Given the description of an element on the screen output the (x, y) to click on. 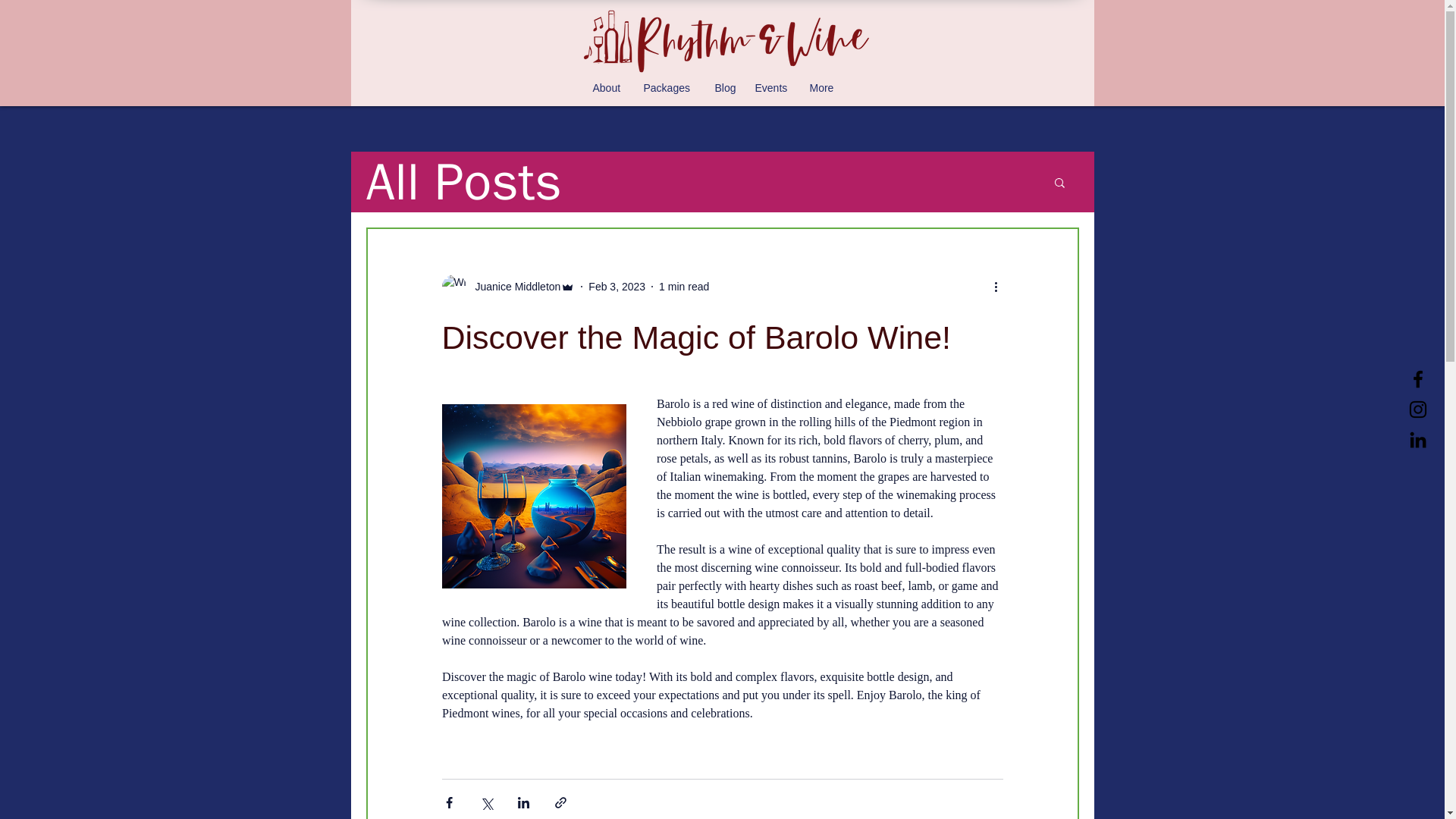
Events (775, 87)
Juanice Middleton (512, 286)
About (610, 87)
Juanice Middleton (508, 286)
1 min read (684, 286)
All Posts (462, 181)
Blog (726, 87)
Feb 3, 2023 (616, 286)
Packages (670, 87)
